Given the description of an element on the screen output the (x, y) to click on. 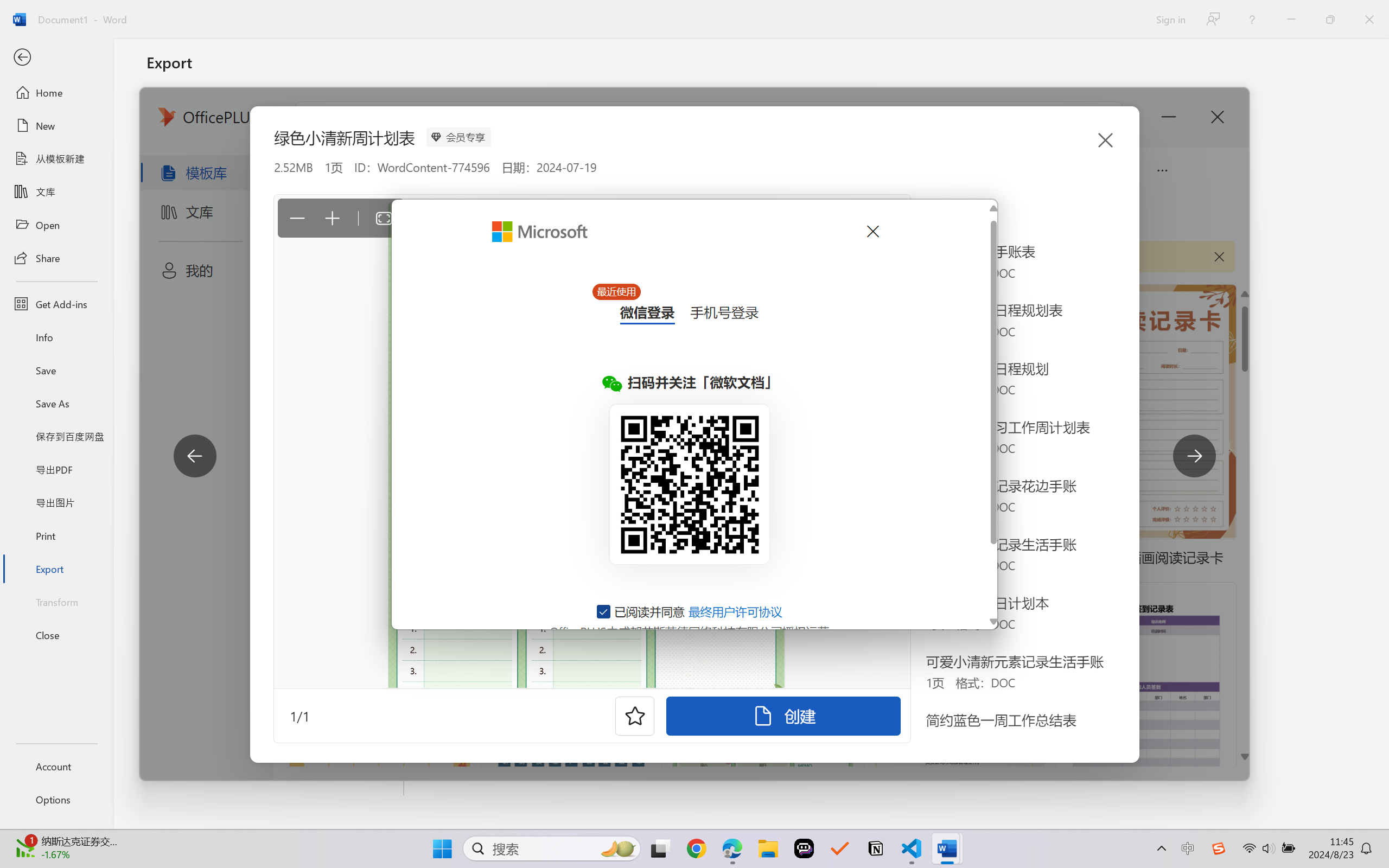
Export (56, 568)
Save As (56, 403)
Back (56, 57)
Account (56, 765)
